Given the description of an element on the screen output the (x, y) to click on. 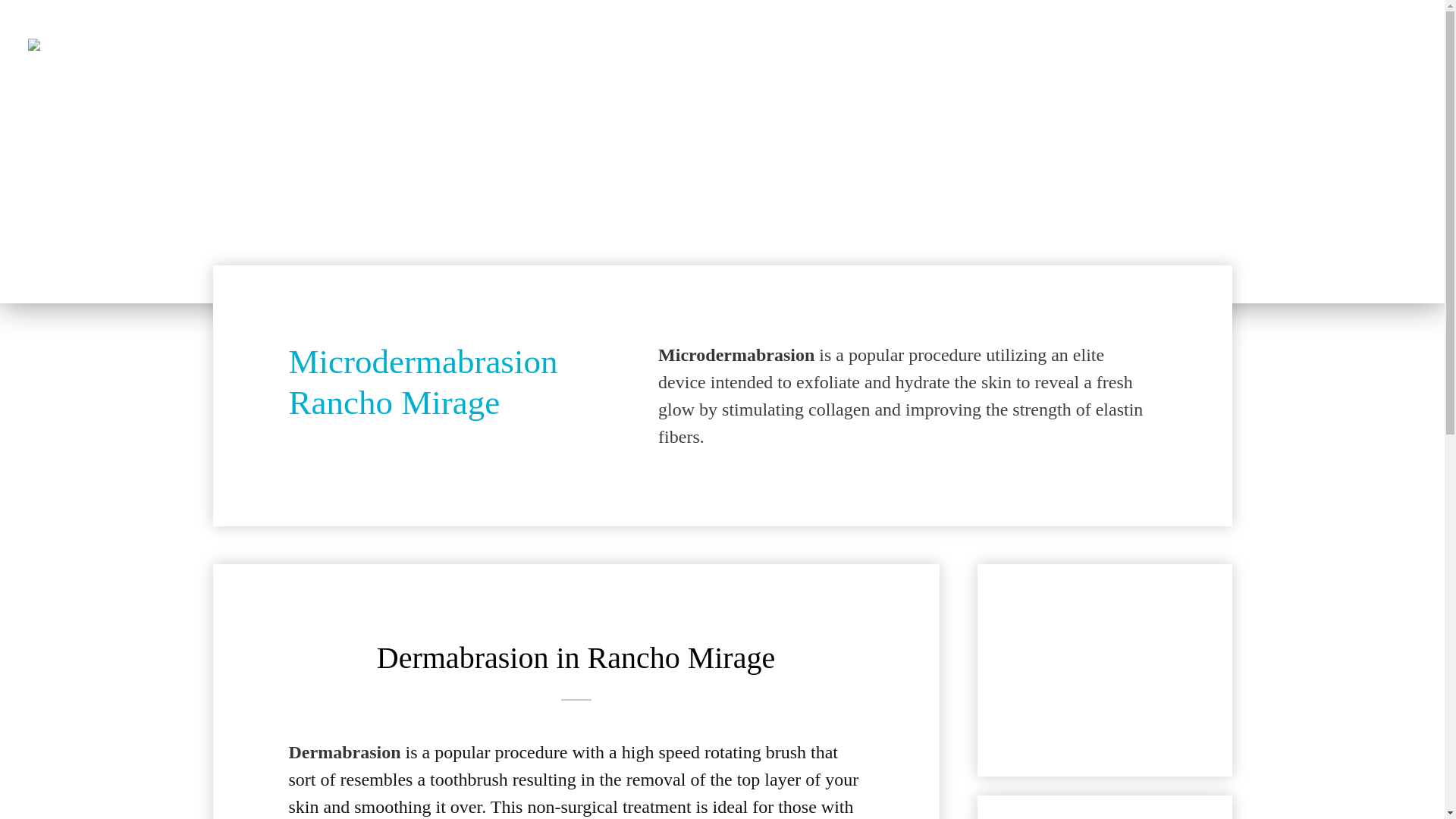
760.568.2211 (1072, 59)
Schedule A Consultation (1236, 49)
